Given the description of an element on the screen output the (x, y) to click on. 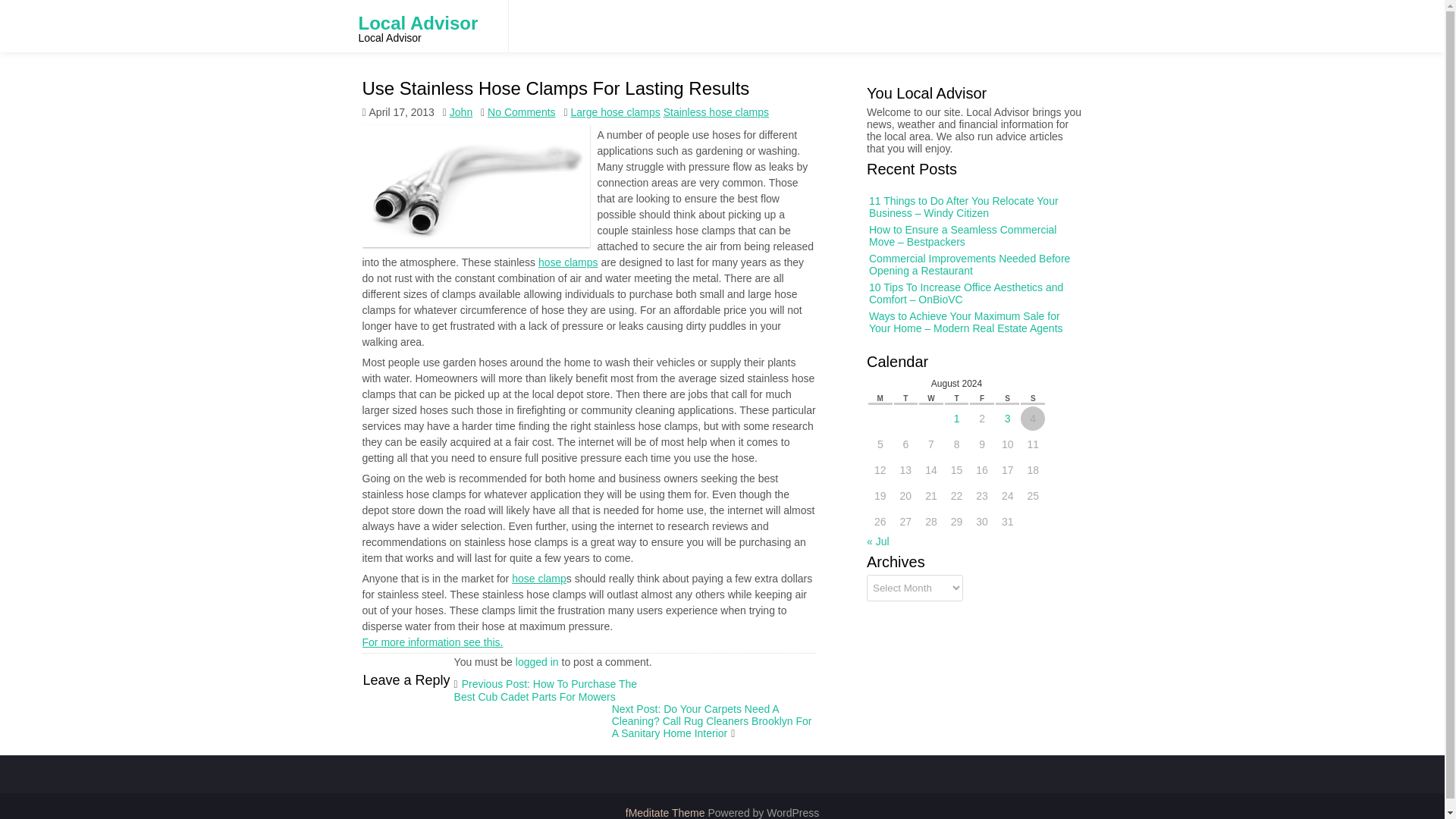
Tuesday (912, 394)
Stainless hose clamps (715, 111)
Large hose clamps (614, 111)
more (581, 262)
Saturday (1005, 396)
Wednesday (935, 394)
fMeditate Theme (666, 812)
Posts by John (460, 91)
Thursday (958, 395)
Sunday (1029, 396)
logged in (537, 662)
Monday (890, 394)
Friday (981, 395)
No Comments (520, 111)
